Given the description of an element on the screen output the (x, y) to click on. 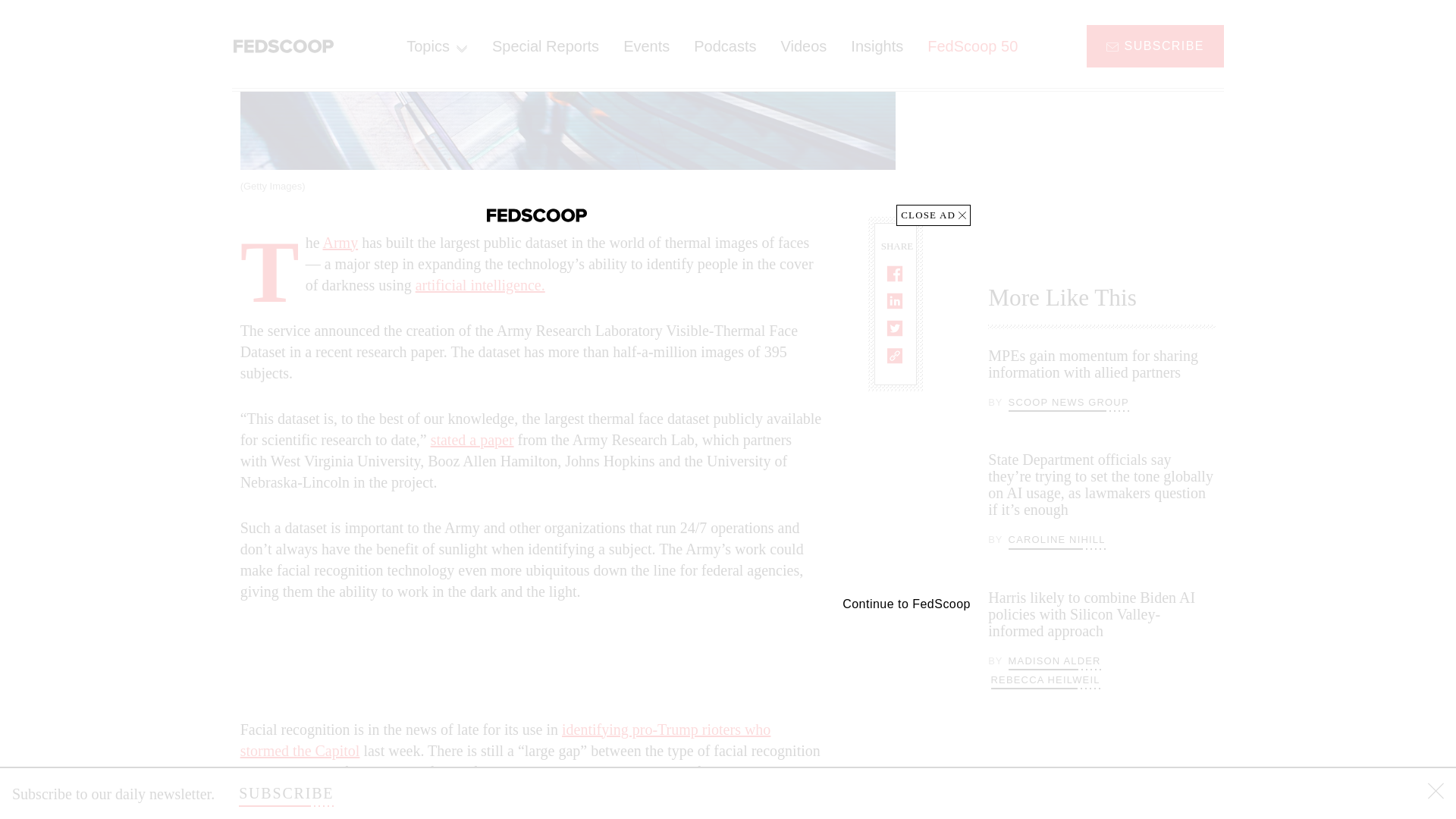
3rd party ad content (1101, 123)
